Given the description of an element on the screen output the (x, y) to click on. 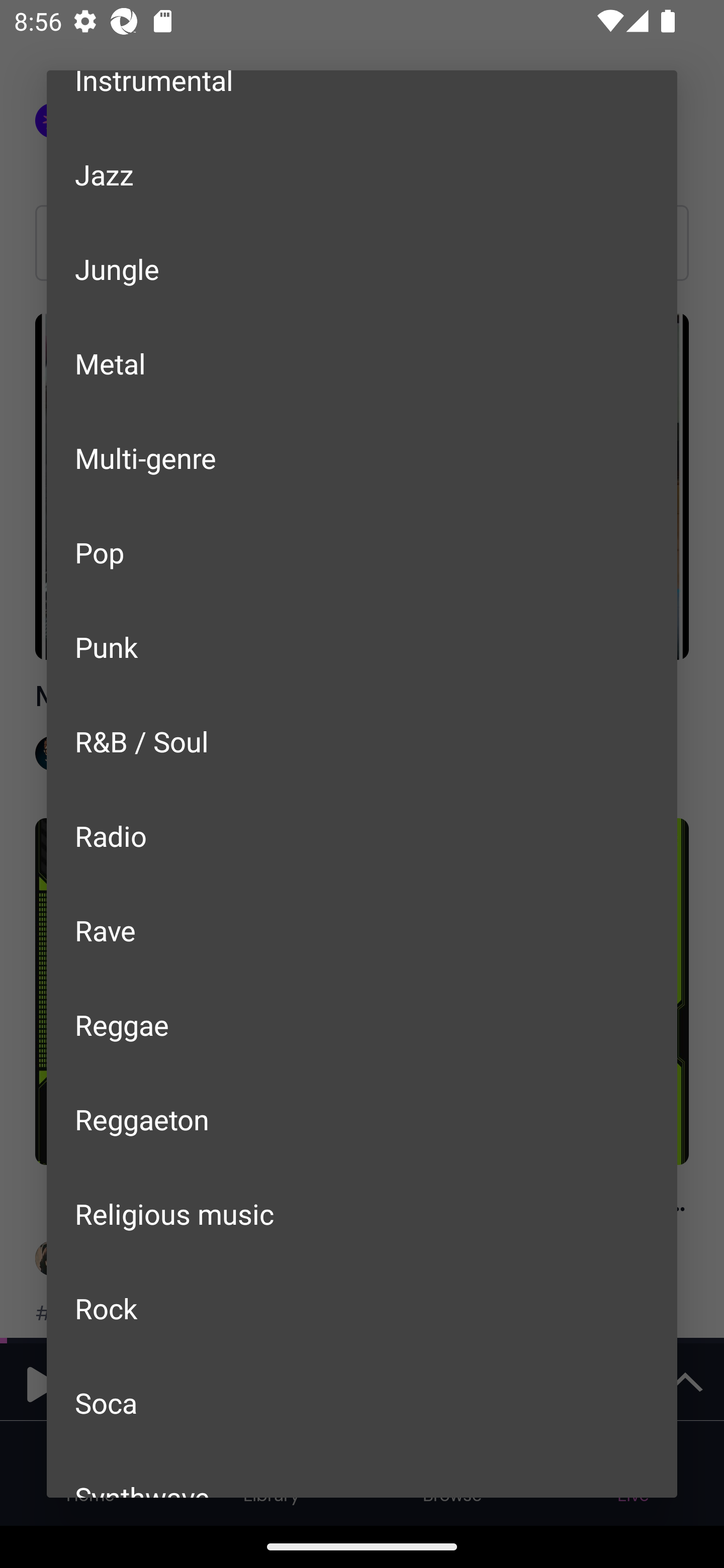
Instrumental (361, 98)
Jazz (361, 174)
Jungle (361, 268)
Metal (361, 363)
Multi-genre (361, 457)
Pop (361, 551)
Punk (361, 646)
R&B / Soul (361, 741)
Radio (361, 835)
Rave (361, 929)
Reggae (361, 1024)
Reggaeton (361, 1119)
Religious music (361, 1213)
Rock (361, 1307)
Soca (361, 1402)
